Given the description of an element on the screen output the (x, y) to click on. 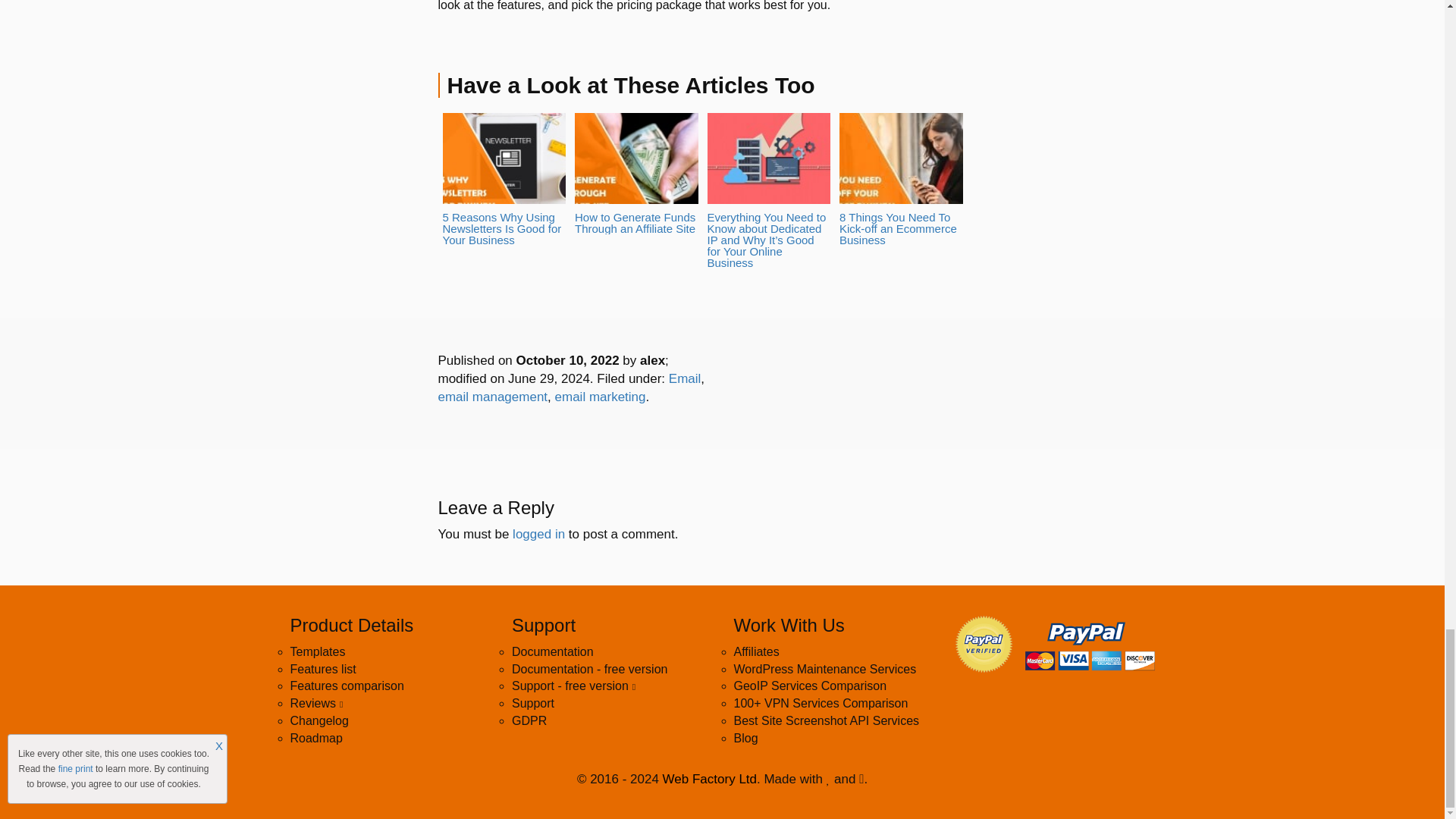
logged in (538, 534)
How to Generate Funds Through an Affiliate Site (636, 173)
email management (493, 396)
GeoIP Services Comparison (809, 685)
Documentation (553, 651)
5 Reasons Why Using Newsletters Is Good for Your Business (504, 179)
email marketing (600, 396)
Support (533, 703)
Support - free version (573, 685)
WordPress Maintenance Services (825, 668)
Features comparison (346, 685)
Templates (317, 651)
Roadmap (315, 738)
Features list (322, 668)
GDPR (529, 720)
